Given the description of an element on the screen output the (x, y) to click on. 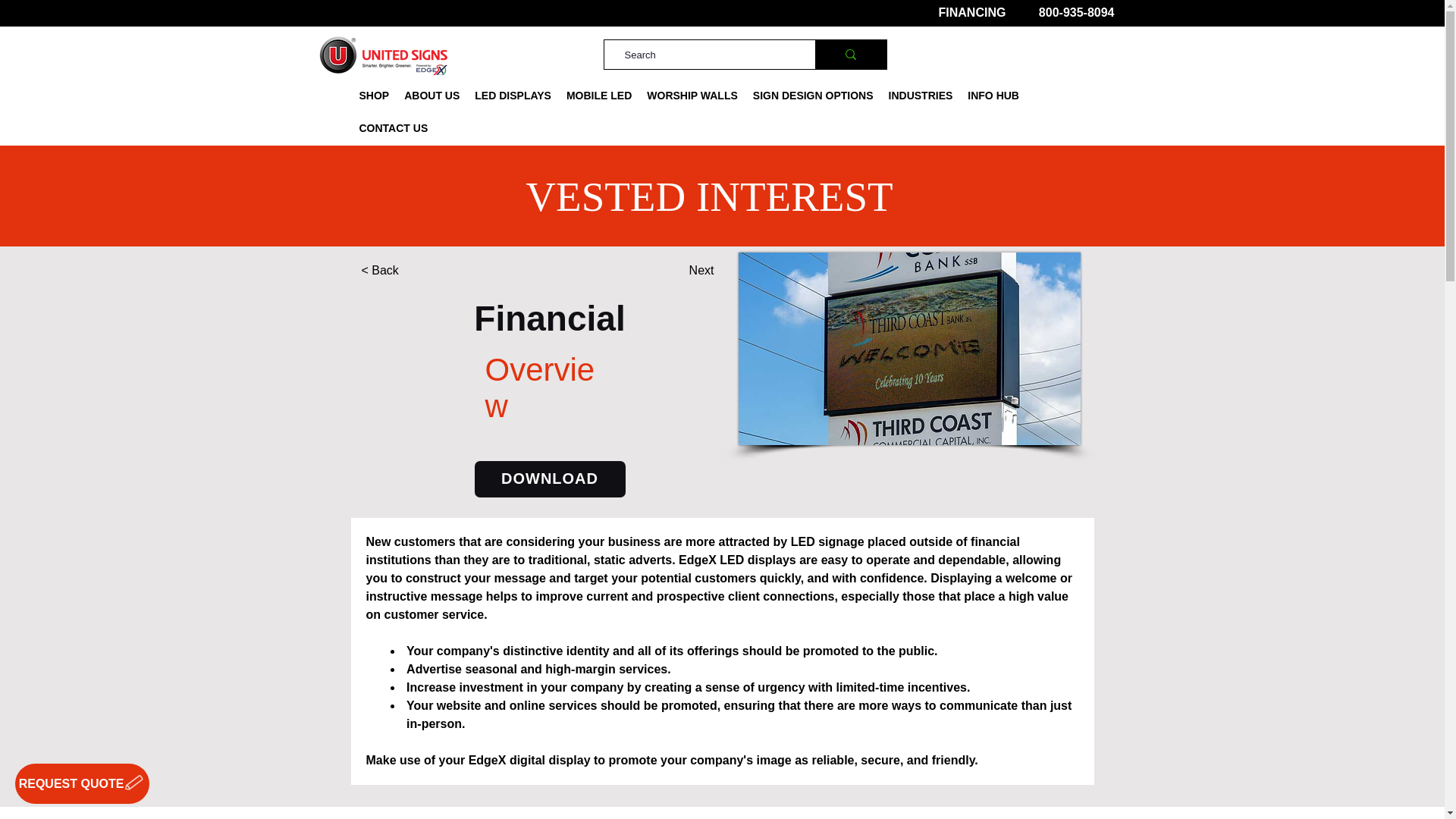
SHOP (374, 96)
WORSHIP WALLS (692, 96)
SIGN DESIGN OPTIONS (812, 96)
FINANCING (972, 11)
ABOUT US (431, 96)
MOBILE LED (599, 96)
LED DISPLAYS (513, 96)
800-935-8094 (1077, 11)
INDUSTRIES (920, 96)
bank3.png (909, 348)
